Given the description of an element on the screen output the (x, y) to click on. 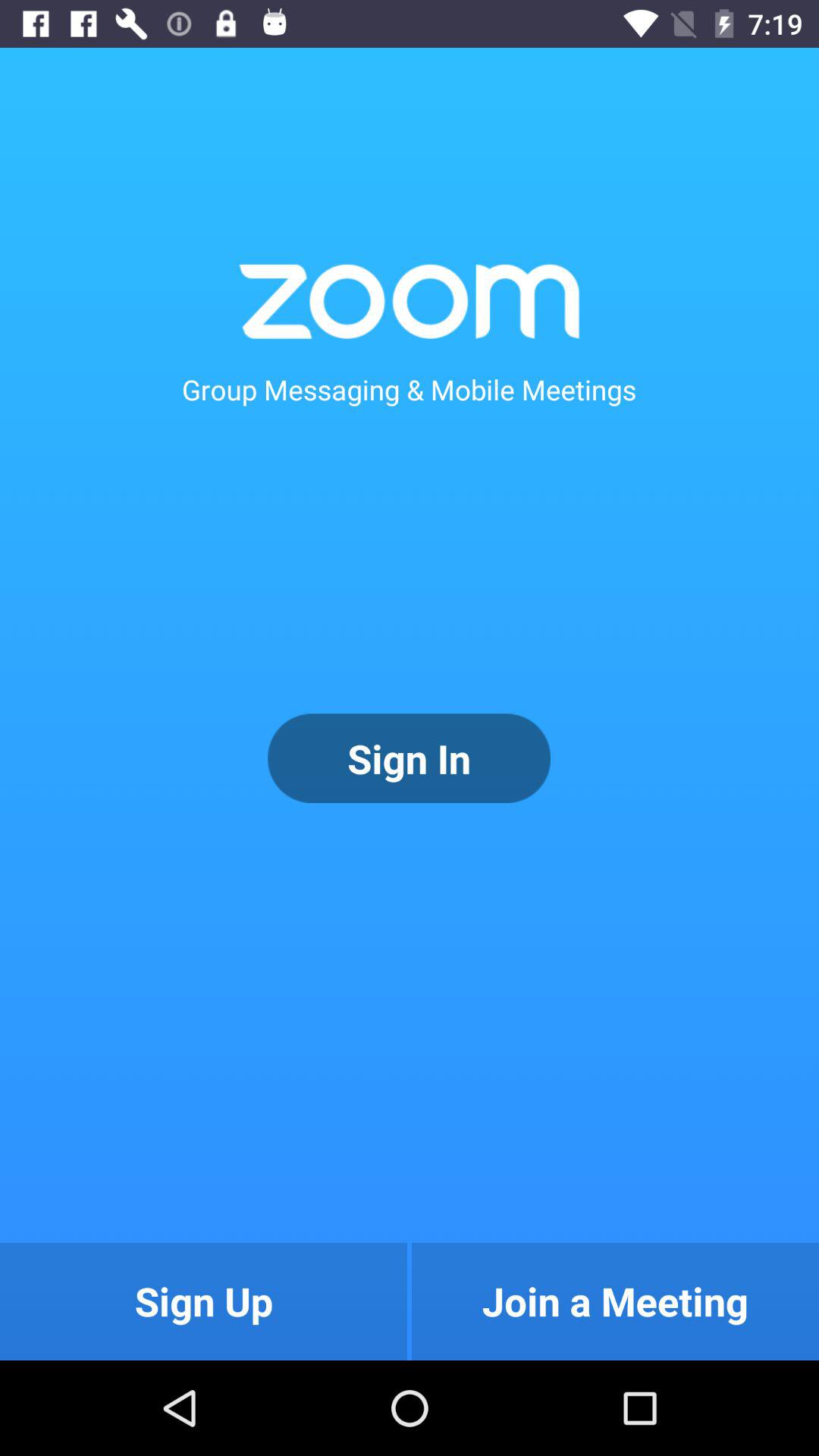
tap icon at the bottom right corner (615, 1301)
